Given the description of an element on the screen output the (x, y) to click on. 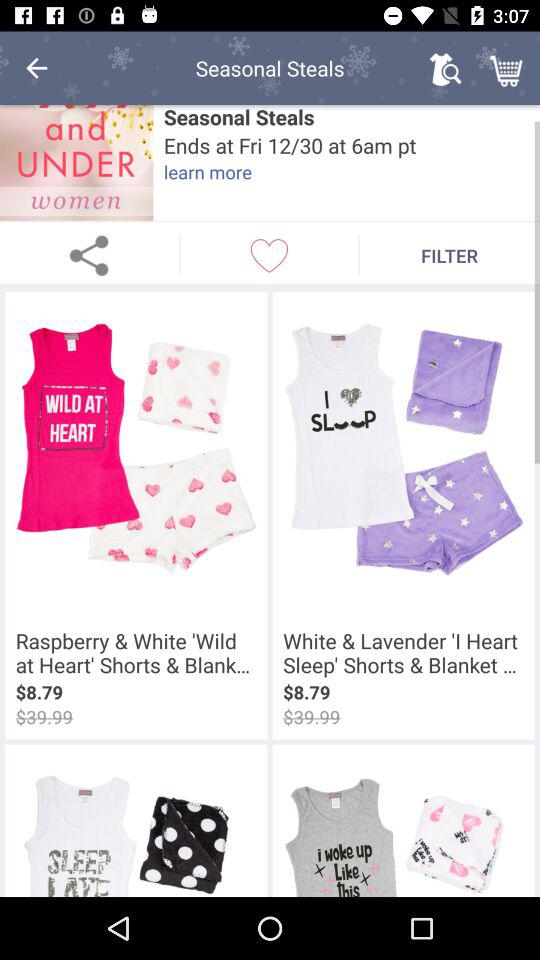
swipe until filter (449, 255)
